Given the description of an element on the screen output the (x, y) to click on. 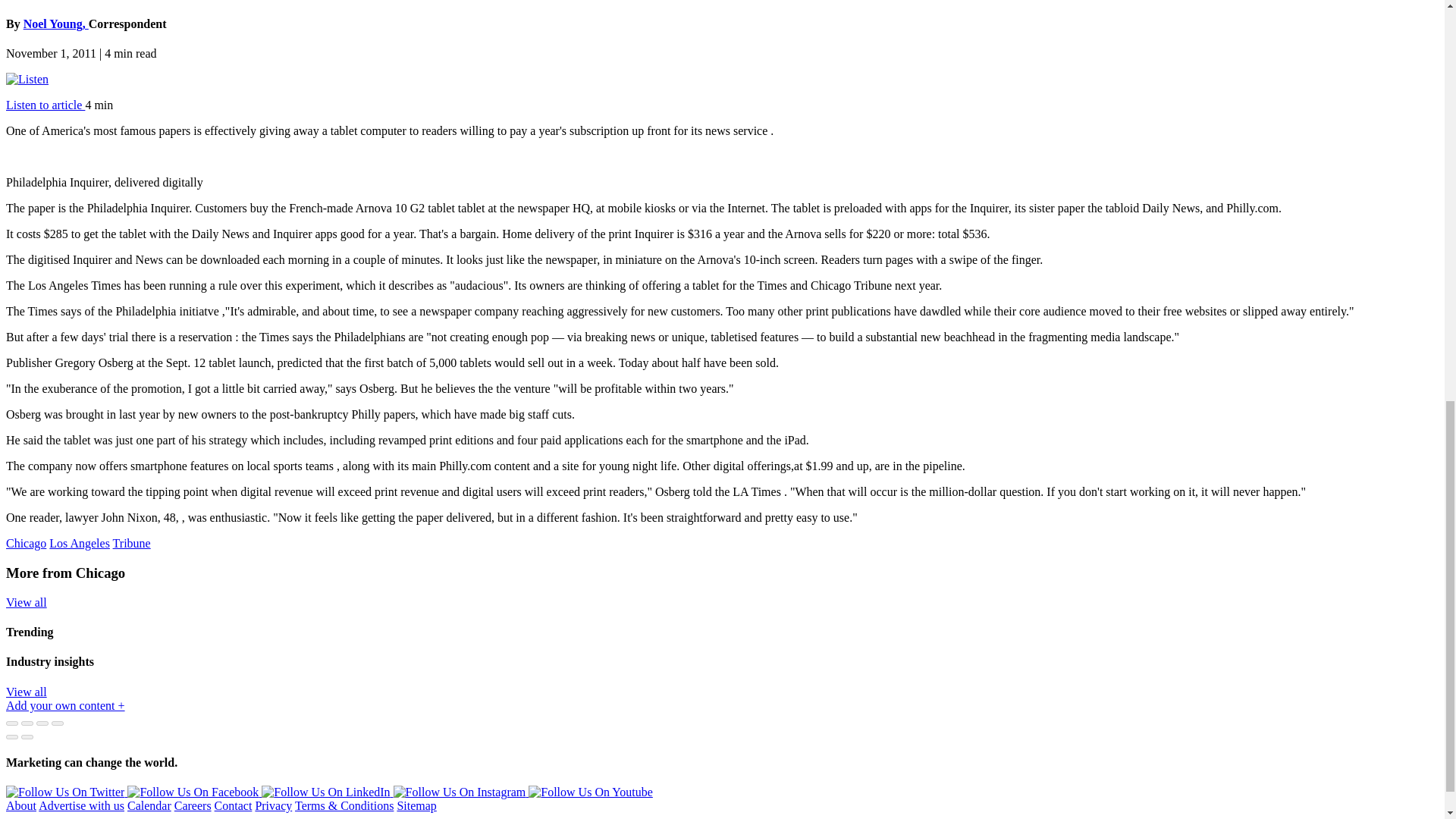
Listen to article (44, 104)
About (20, 805)
Privacy (273, 805)
Noel Young, (55, 23)
View all (25, 691)
Los Angeles (79, 543)
Tribune (132, 543)
Advertise with us (81, 805)
Toggle fullscreen (42, 723)
Careers (192, 805)
Chicago (25, 543)
Calendar (149, 805)
View all (25, 602)
Share (27, 723)
Contact (232, 805)
